Given the description of an element on the screen output the (x, y) to click on. 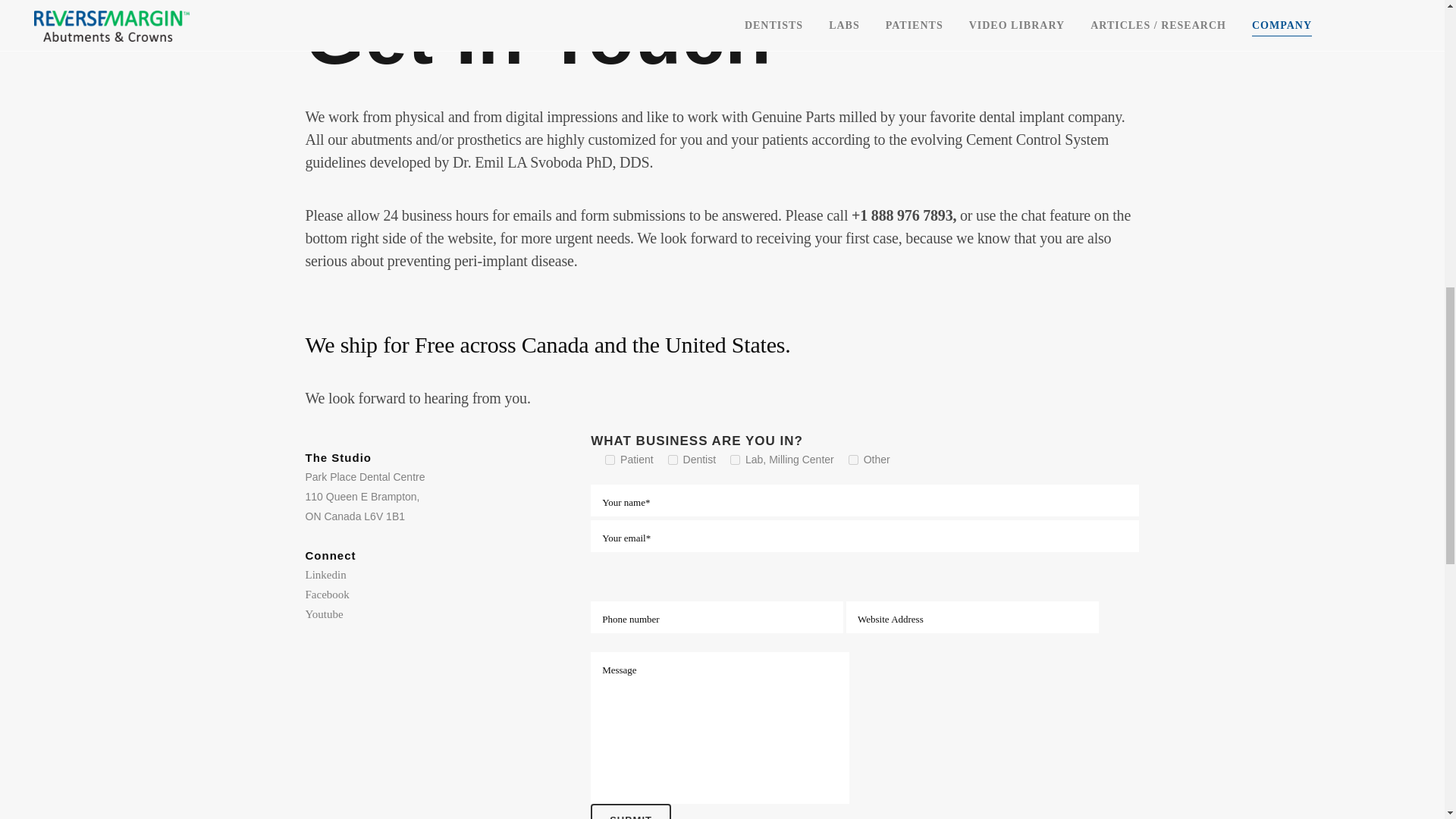
Other (853, 460)
Facebook (326, 594)
Lab, Milling Center (734, 460)
Patient (609, 460)
Submit (631, 811)
Linkedin (325, 574)
Youtube (323, 614)
Submit (631, 811)
Dentist (673, 460)
